Given the description of an element on the screen output the (x, y) to click on. 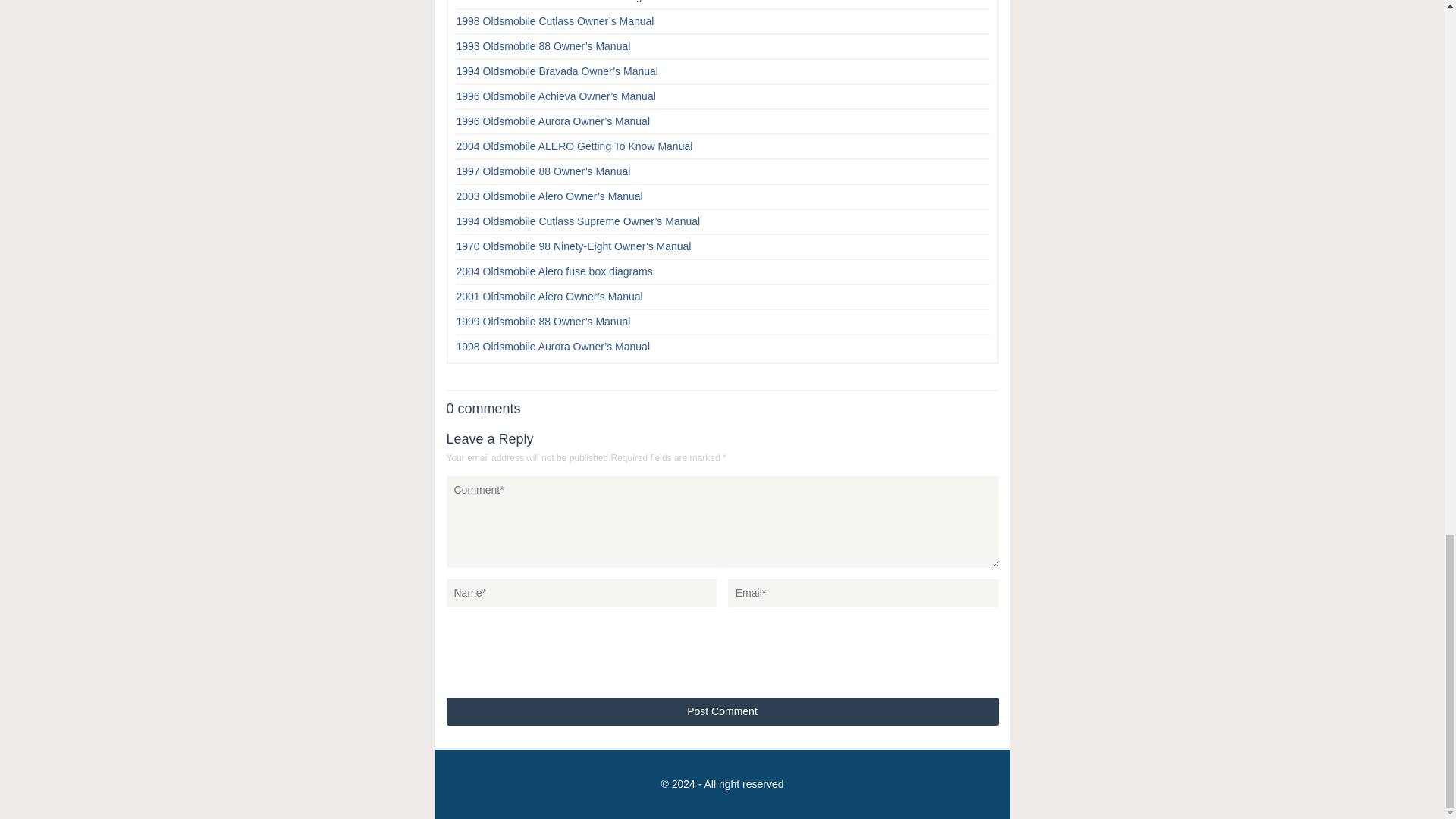
2004 Oldsmobile Alero fuse box diagrams (554, 271)
Post Comment (721, 711)
Post Comment (721, 711)
1993 Oldsmobile Achieva fuse box diagram (559, 1)
2004 Oldsmobile ALERO Getting To Know Manual (575, 146)
